Given the description of an element on the screen output the (x, y) to click on. 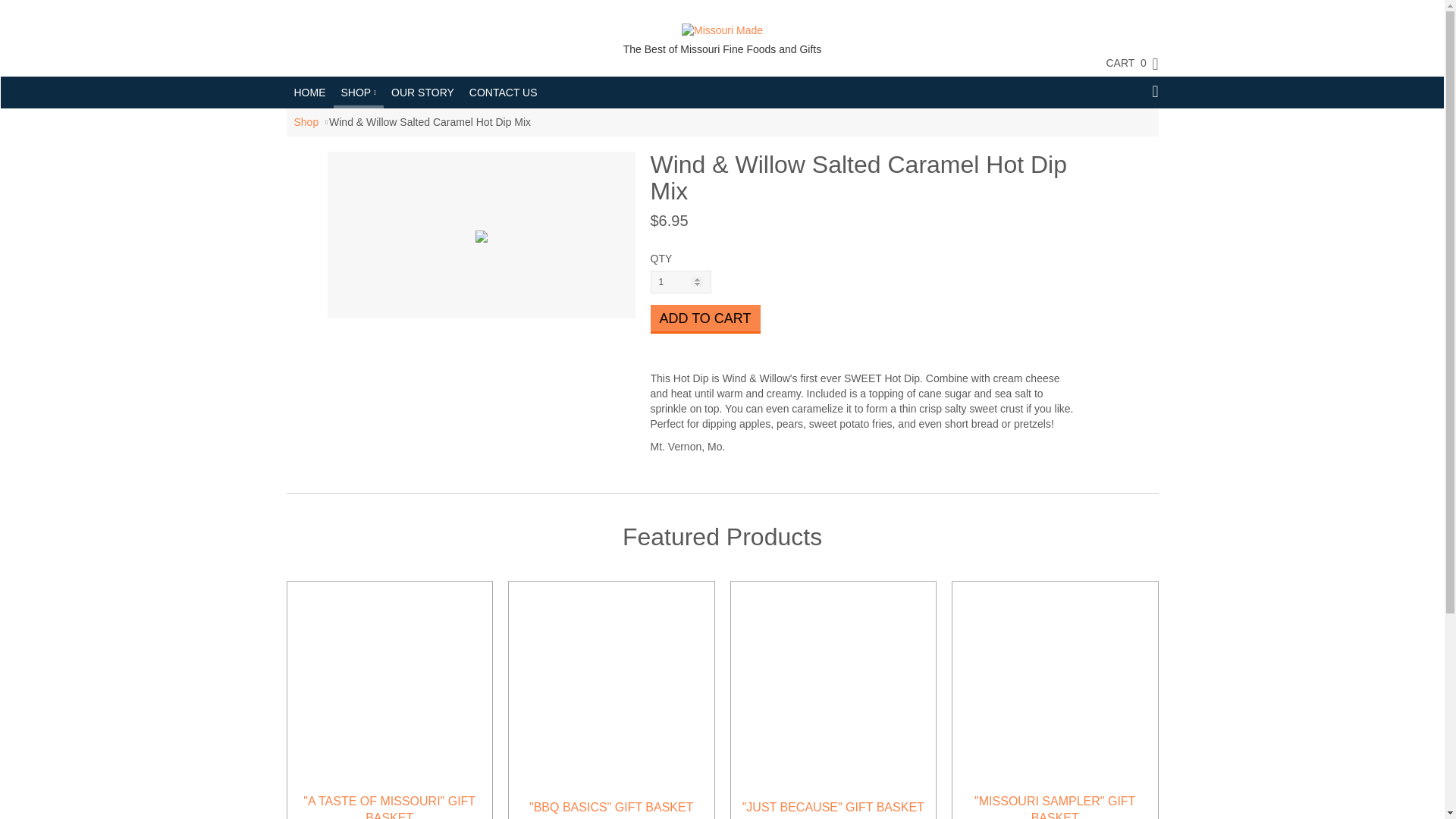
OUR STORY (422, 92)
Shop (306, 121)
SHOP (358, 90)
Add to Cart (705, 318)
HOME (309, 92)
1 (680, 282)
CONTACT US (502, 92)
CART  0   (1123, 63)
